Given the description of an element on the screen output the (x, y) to click on. 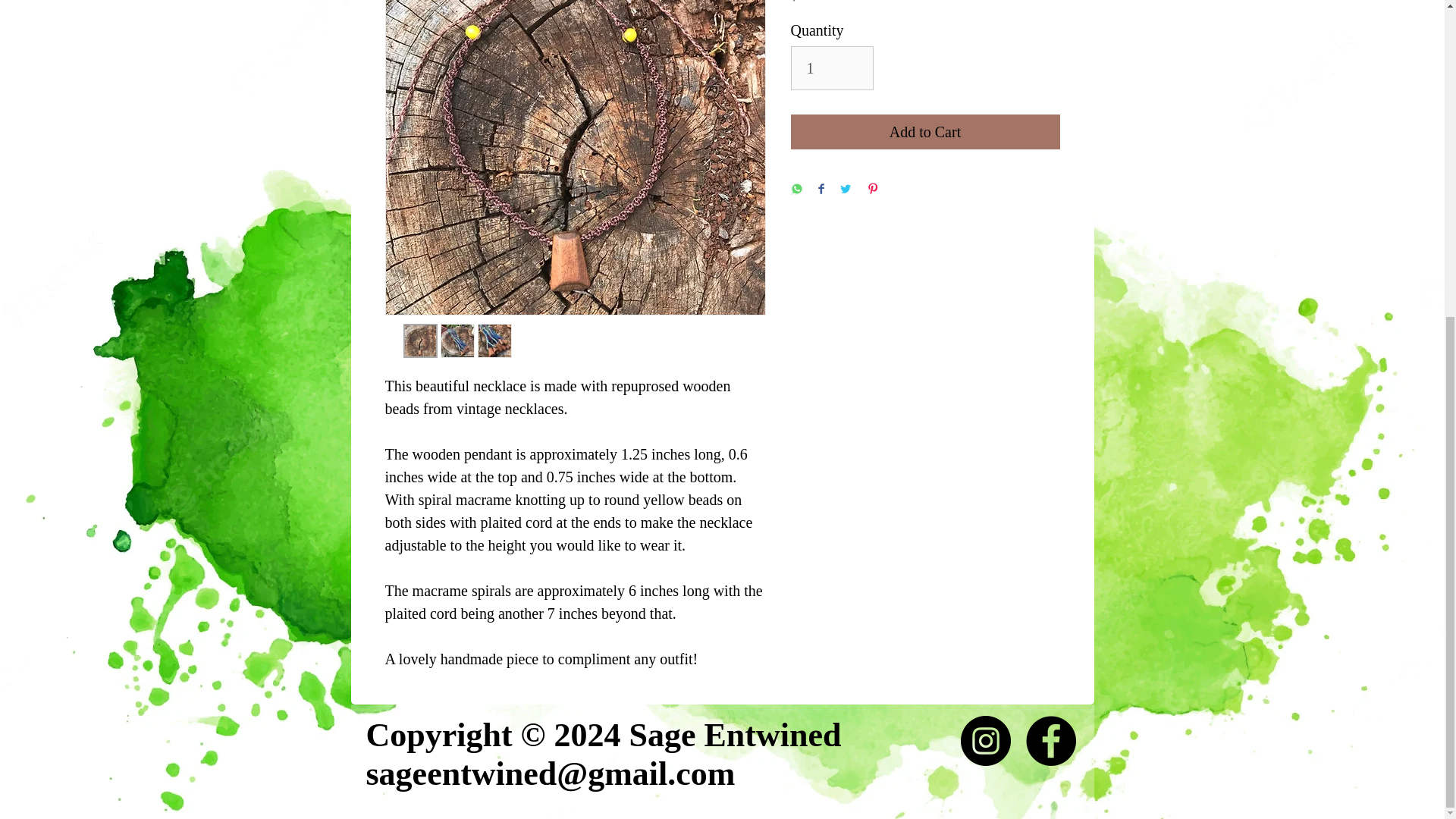
1 (831, 67)
